Given the description of an element on the screen output the (x, y) to click on. 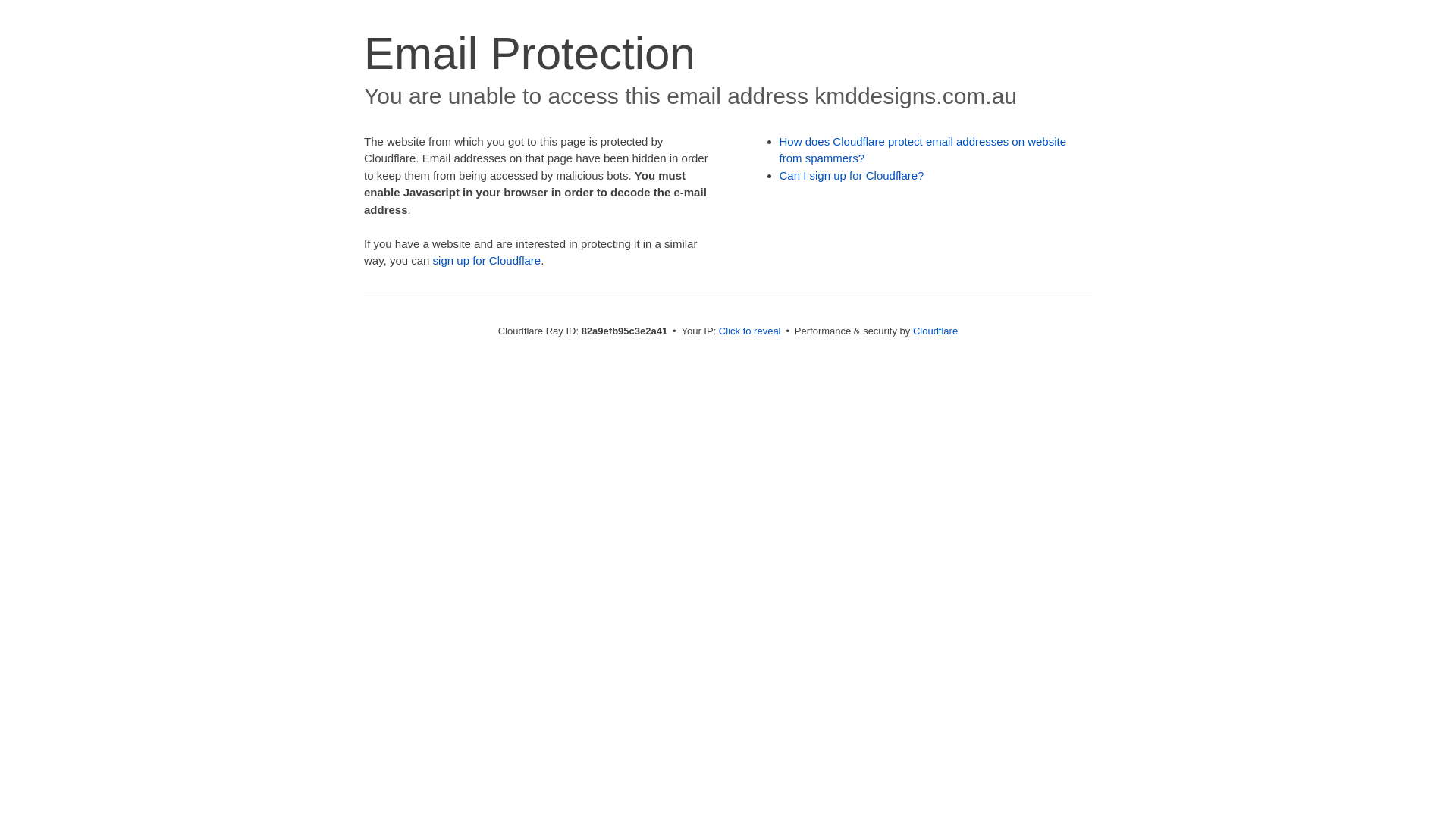
Can I sign up for Cloudflare? Element type: text (851, 175)
Click to reveal Element type: text (749, 330)
sign up for Cloudflare Element type: text (487, 260)
Cloudflare Element type: text (935, 330)
